Given the description of an element on the screen output the (x, y) to click on. 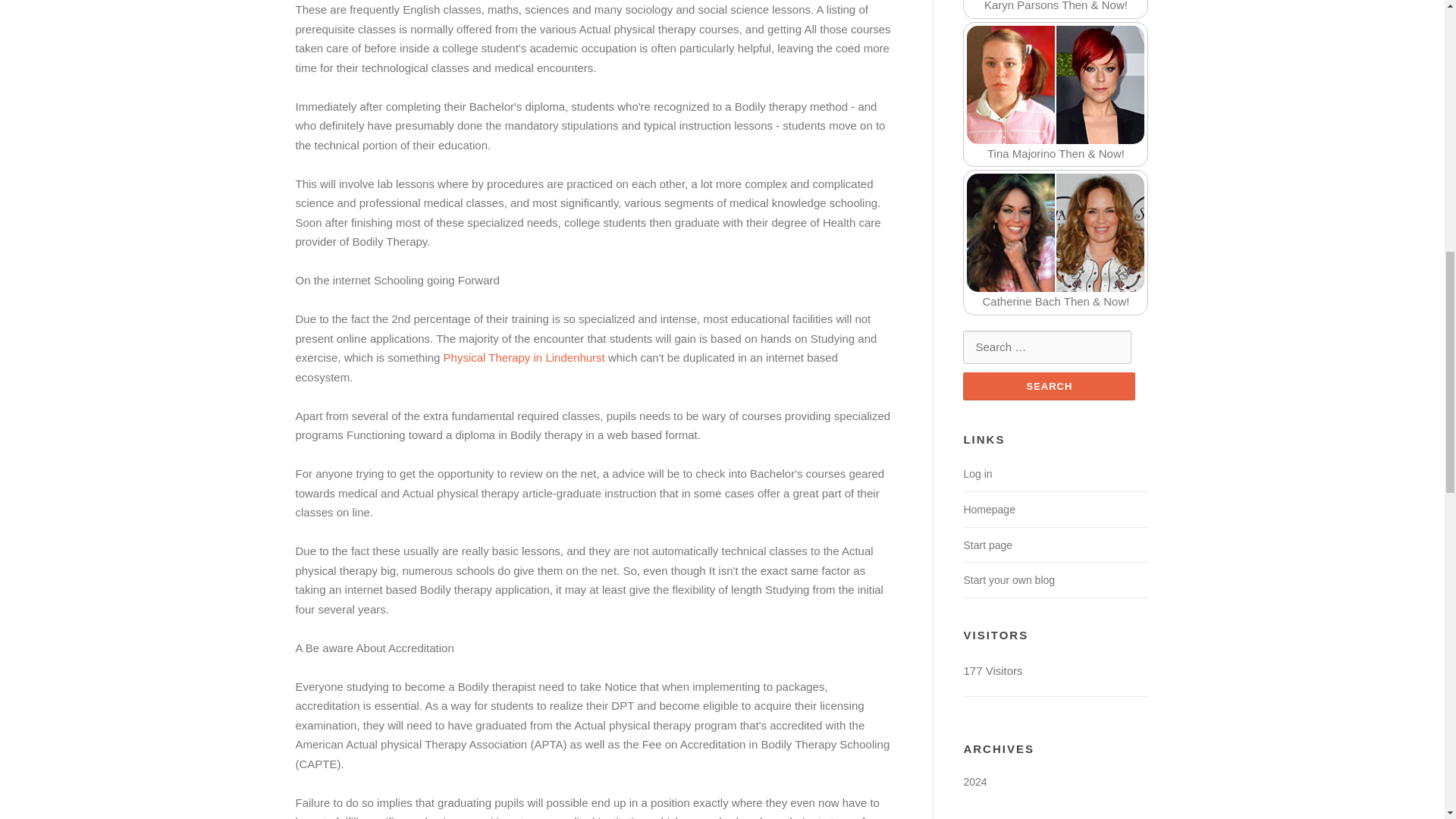
Start your own blog (1008, 580)
Search (1048, 386)
Log in (976, 473)
2024 (974, 781)
Start page (986, 544)
Physical Therapy in Lindenhurst (524, 357)
Homepage (988, 509)
Search (1048, 386)
Search (1048, 386)
